Given the description of an element on the screen output the (x, y) to click on. 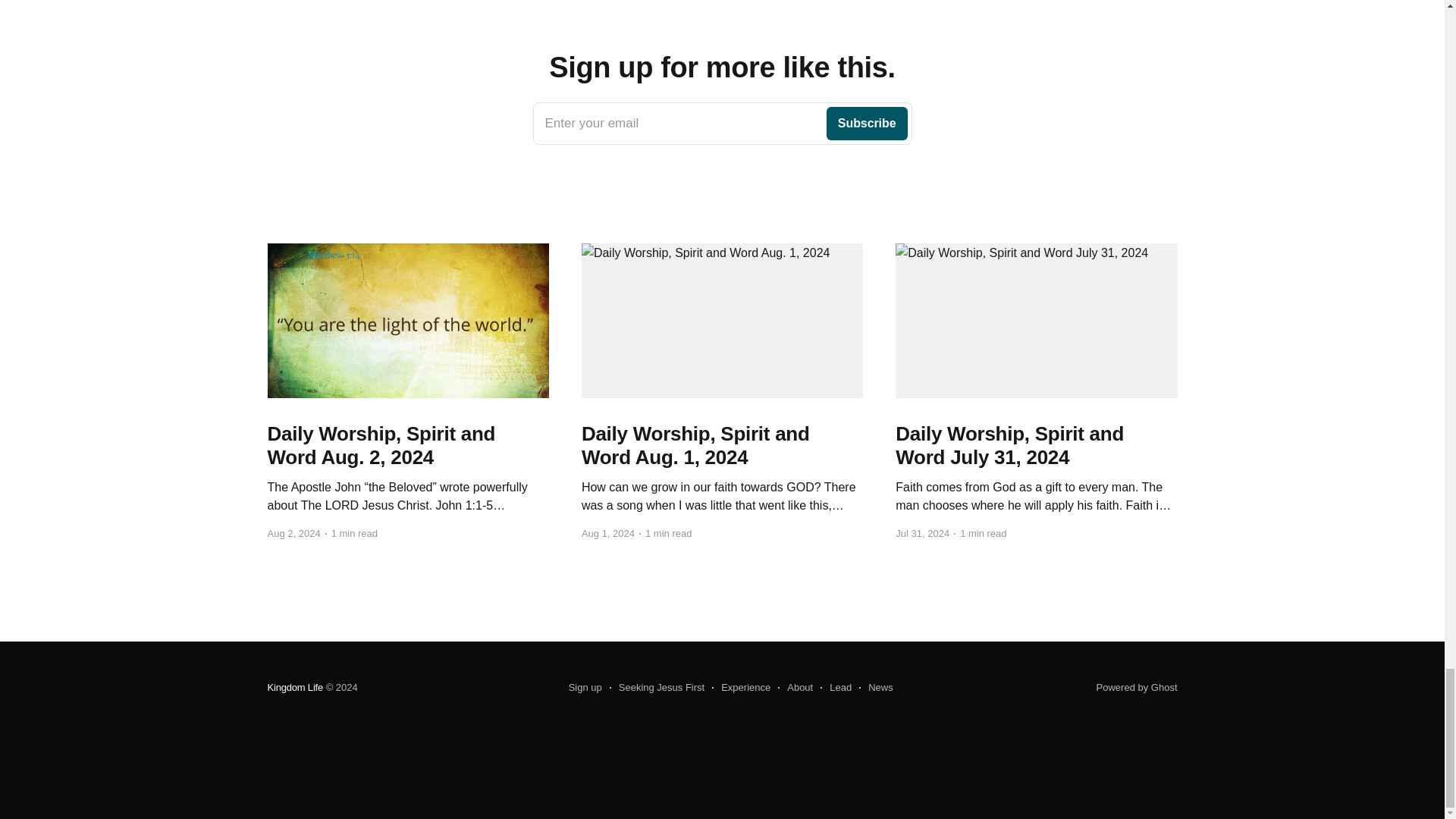
Lead (836, 687)
Sign up (721, 123)
Powered by Ghost (585, 687)
Seeking Jesus First (1136, 686)
Experience (657, 687)
News (740, 687)
About (876, 687)
Kingdom Life (794, 687)
